Given the description of an element on the screen output the (x, y) to click on. 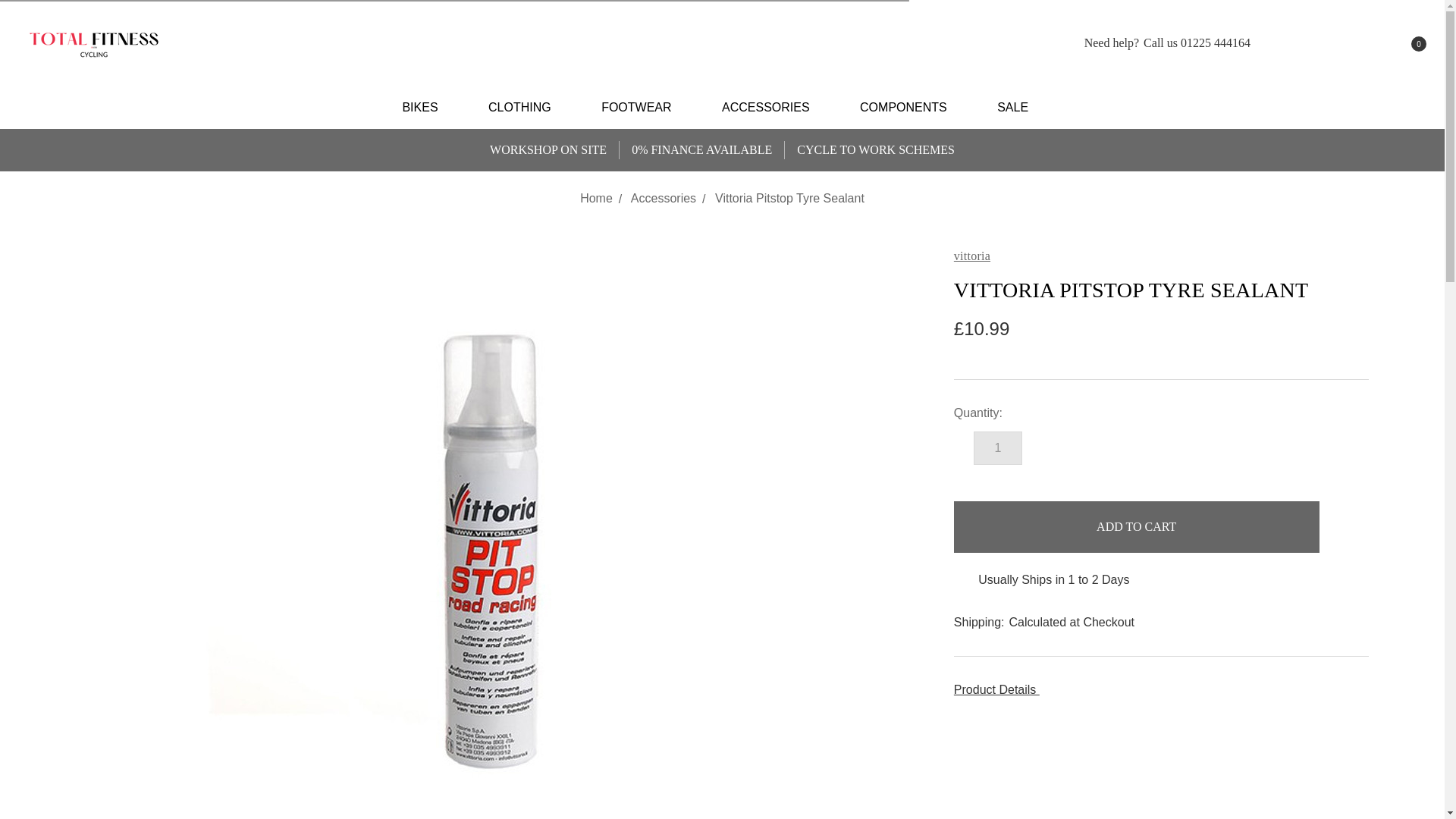
Add to Cart (1136, 526)
FOOTWEAR (643, 107)
BIKES (427, 107)
Need help?Call us 01225 444164 (1157, 43)
Total Fitness (93, 43)
ACCESSORIES (772, 107)
1 (998, 448)
CLOTHING (526, 107)
Product Details (1160, 689)
0 (1405, 43)
